Given the description of an element on the screen output the (x, y) to click on. 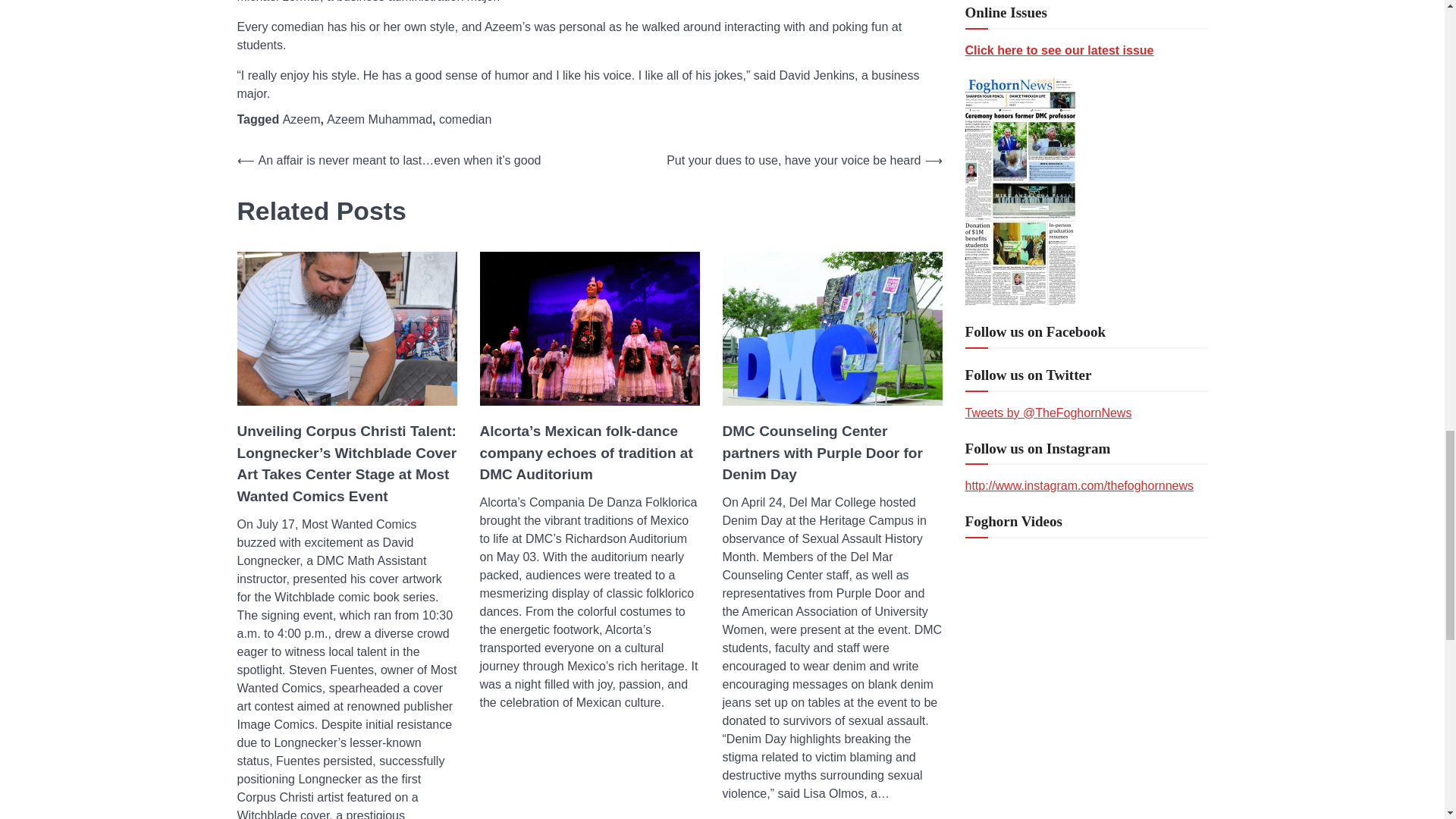
Azeem (301, 119)
Azeem Muhammad (379, 119)
comedian (465, 119)
